Given the description of an element on the screen output the (x, y) to click on. 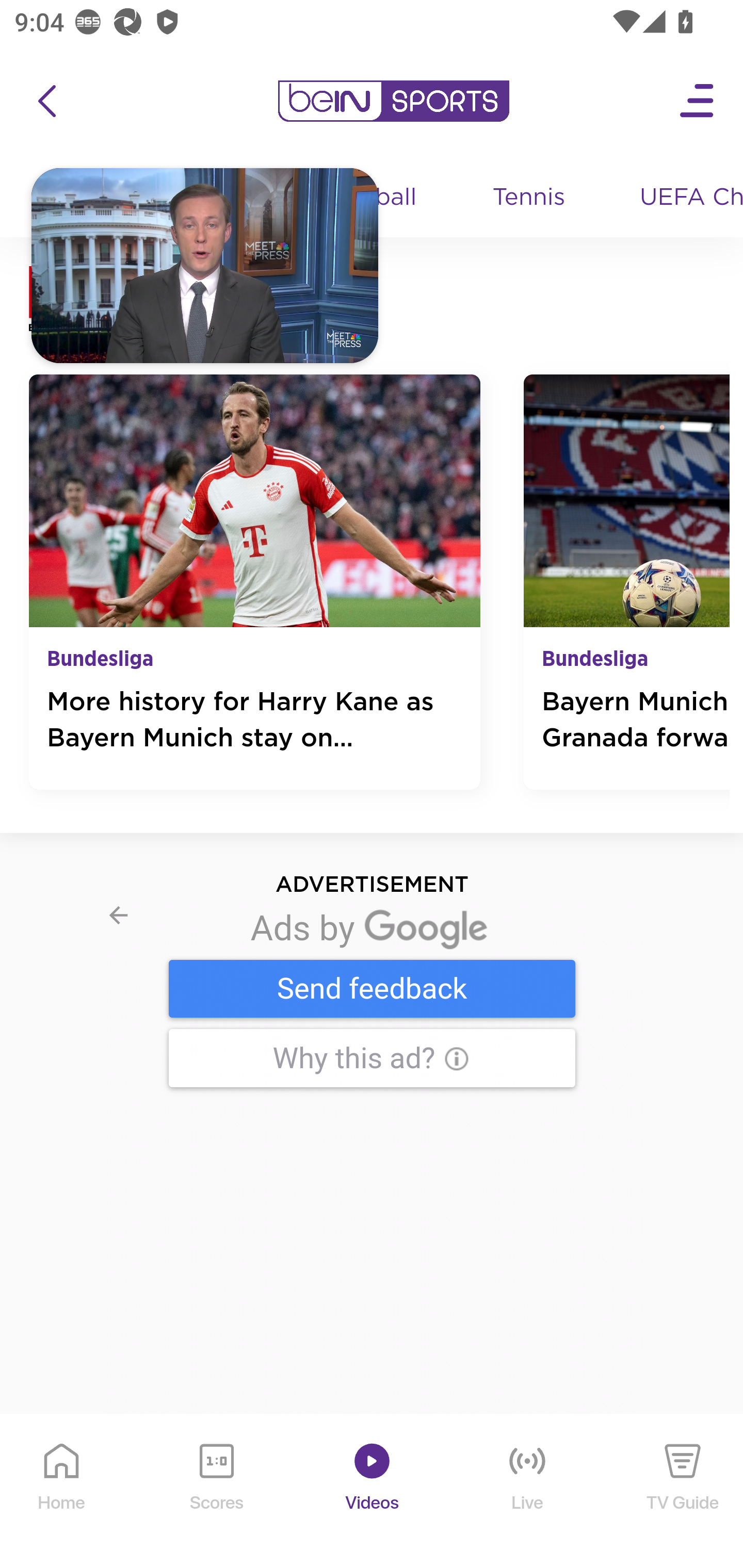
en-my?platform=mobile_android bein logo (392, 101)
icon back (46, 101)
Open Menu Icon (697, 101)
Tennis (530, 198)
UEFA Champions League (683, 198)
Home Home Icon Home (61, 1491)
Scores Scores Icon Scores (216, 1491)
Videos Videos Icon Videos (372, 1491)
TV Guide TV Guide Icon TV Guide (682, 1491)
